Given the description of an element on the screen output the (x, y) to click on. 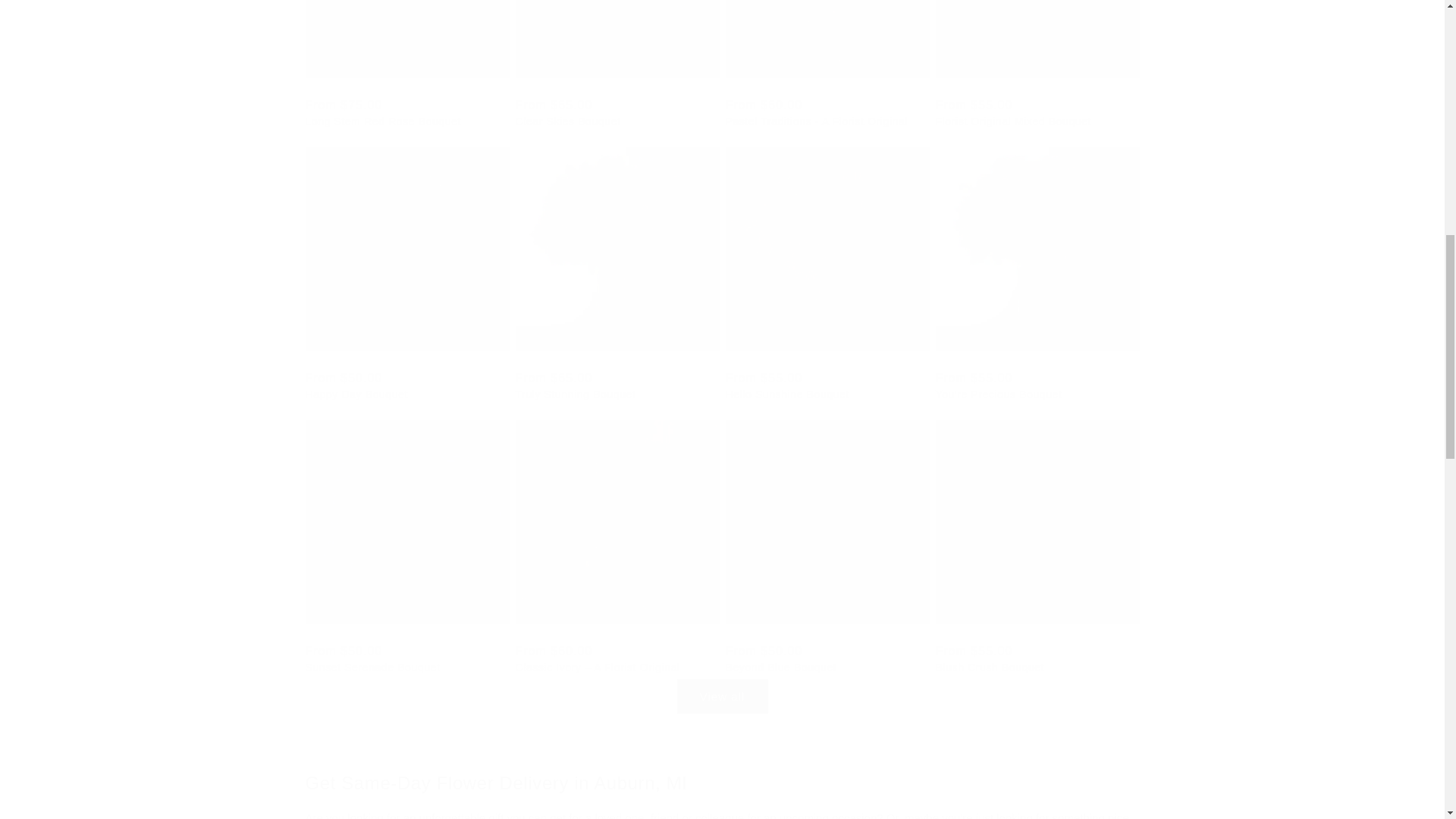
Get Same-Day Flower Delivery in Auburn, MI (721, 782)
